Given the description of an element on the screen output the (x, y) to click on. 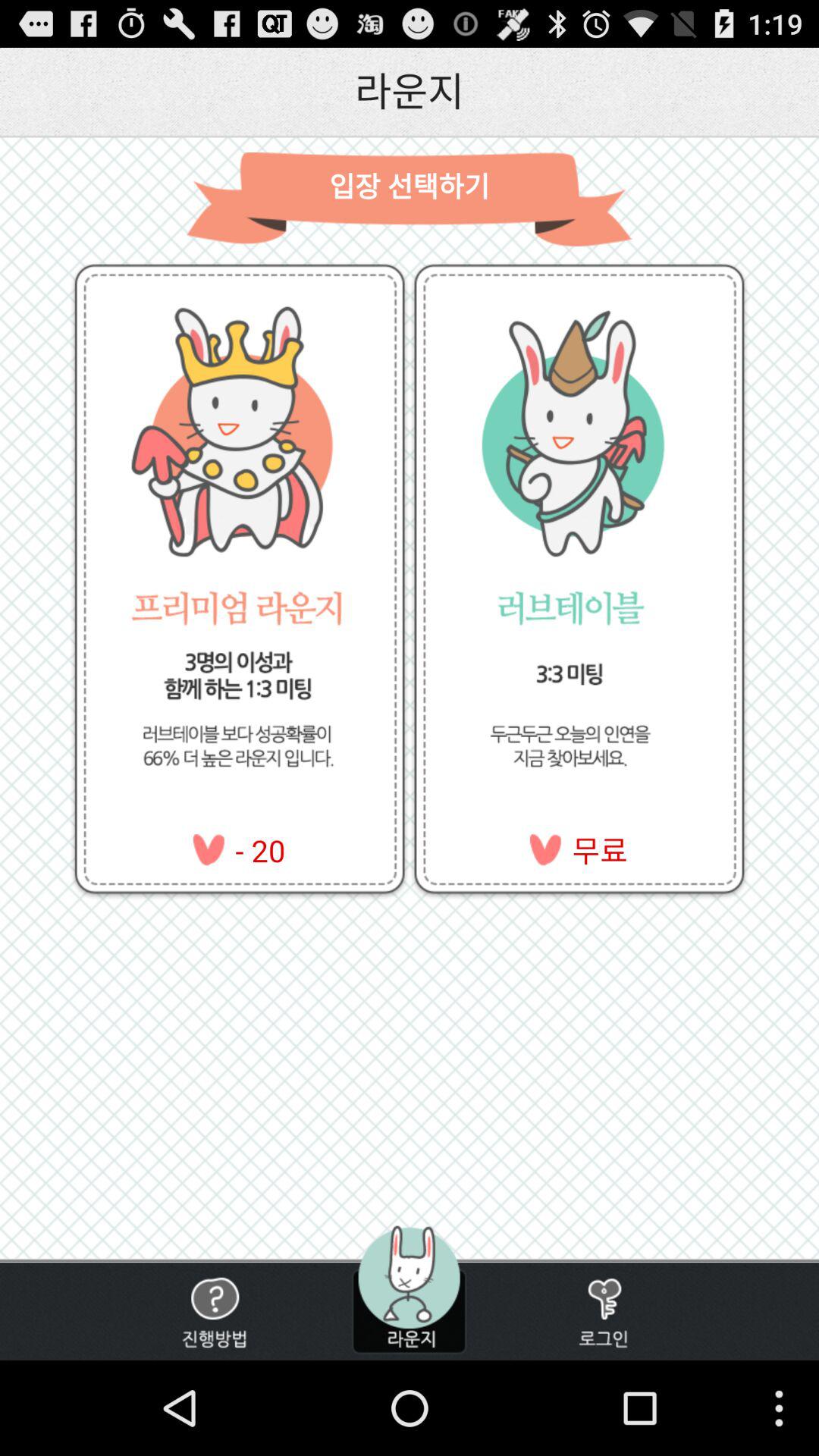
profile selection (408, 1289)
